Given the description of an element on the screen output the (x, y) to click on. 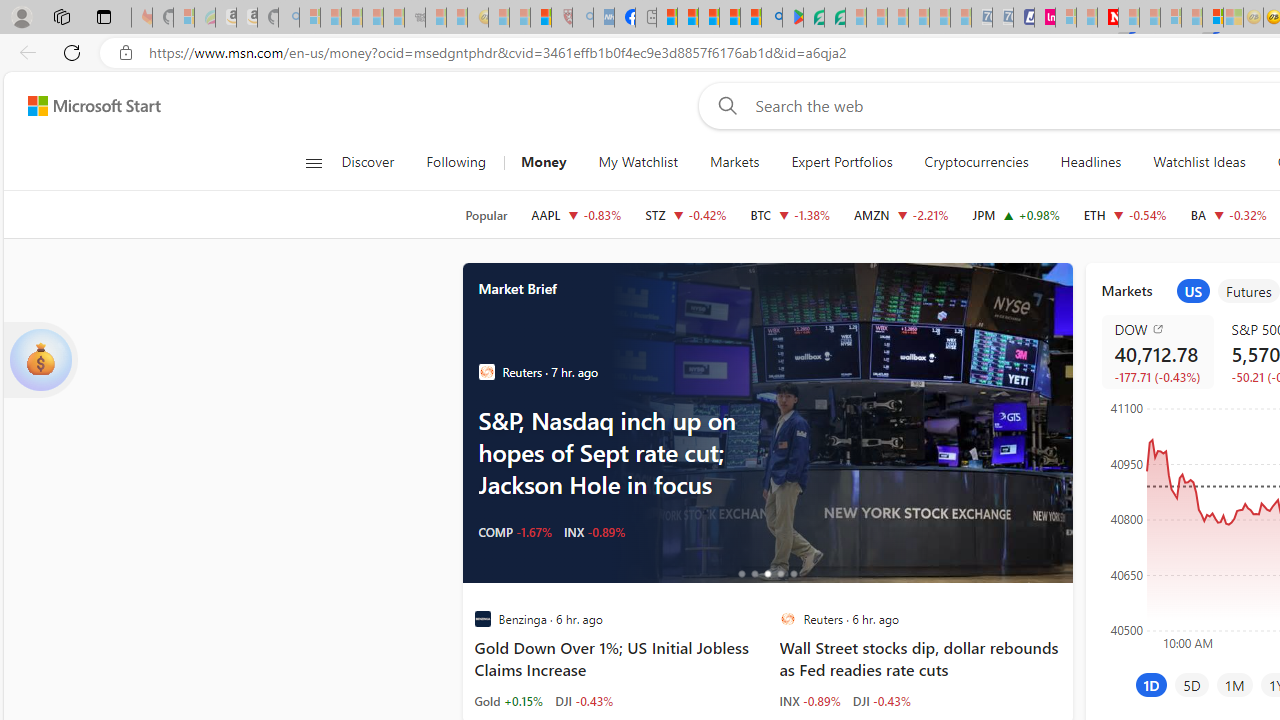
DOW (1160, 328)
DOW DJI decrease 40,712.78 -177.71 -0.43% (1156, 351)
google - Search (771, 17)
Money (543, 162)
Watchlist Ideas (1199, 162)
Local - MSN (541, 17)
AAPL APPLE INC. decrease 224.53 -1.87 -0.83% (575, 214)
